Given the description of an element on the screen output the (x, y) to click on. 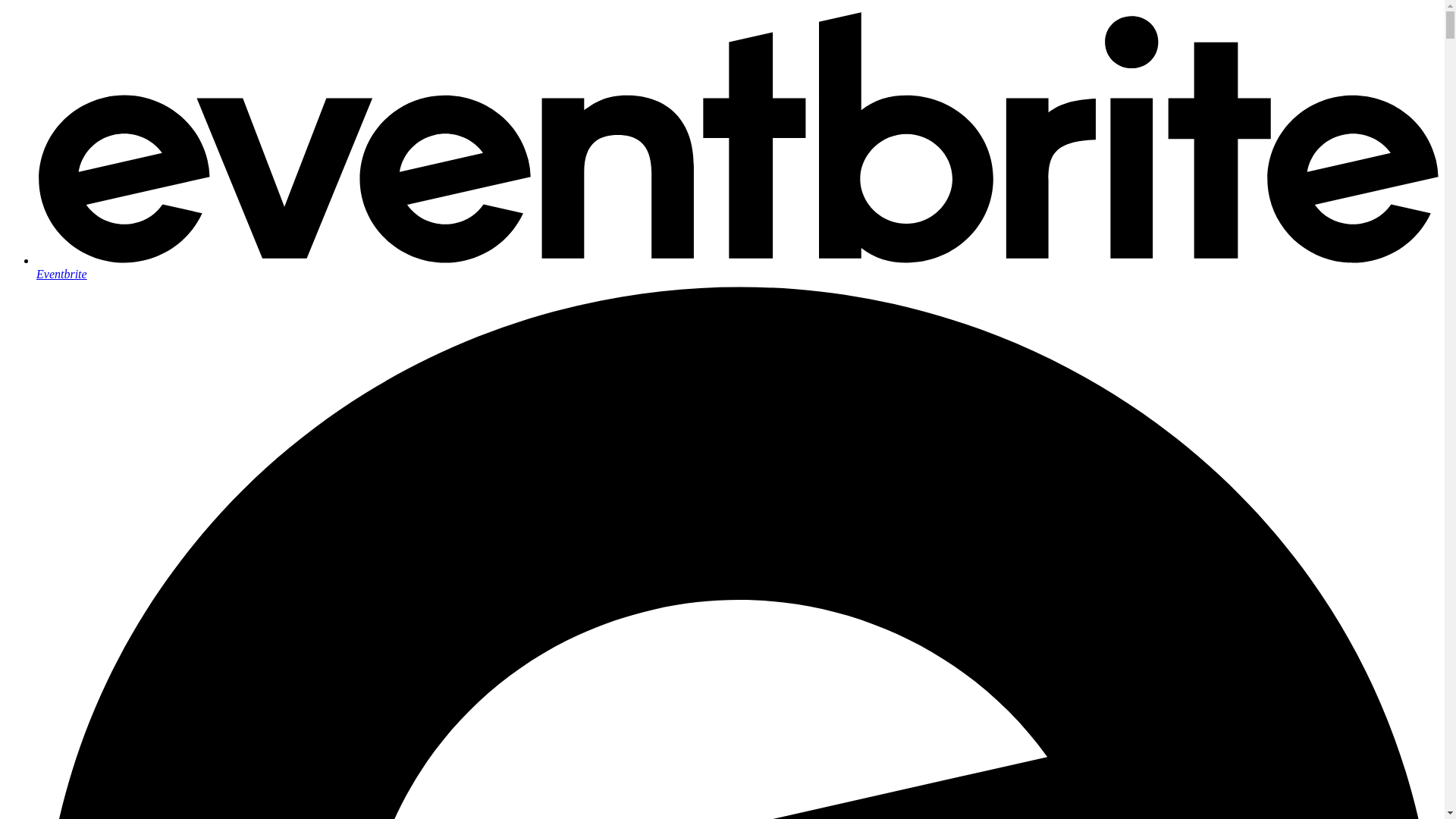
Eventbrite Element type: text (737, 267)
